Given the description of an element on the screen output the (x, y) to click on. 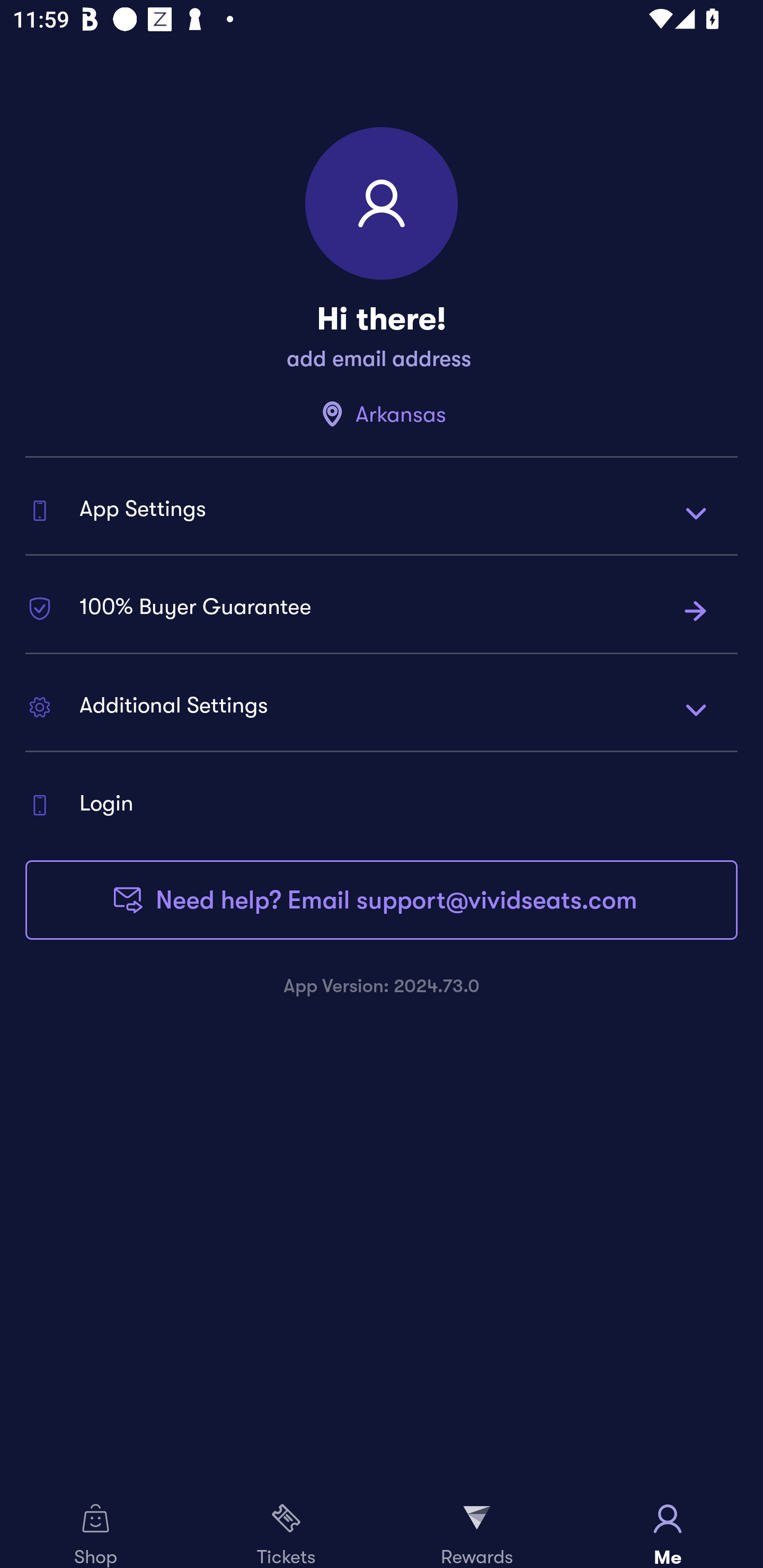
Arkansas (381, 413)
App Settings  (381, 511)
100% Buyer Guarantee (381, 609)
Additional Settings  (381, 708)
Login (381, 805)
Need help? Email support@vividseats.com (381, 899)
App Version: 2024.73.0 (381, 985)
Shop (95, 1529)
Tickets (285, 1529)
Rewards (476, 1529)
Me (667, 1529)
